Given the description of an element on the screen output the (x, y) to click on. 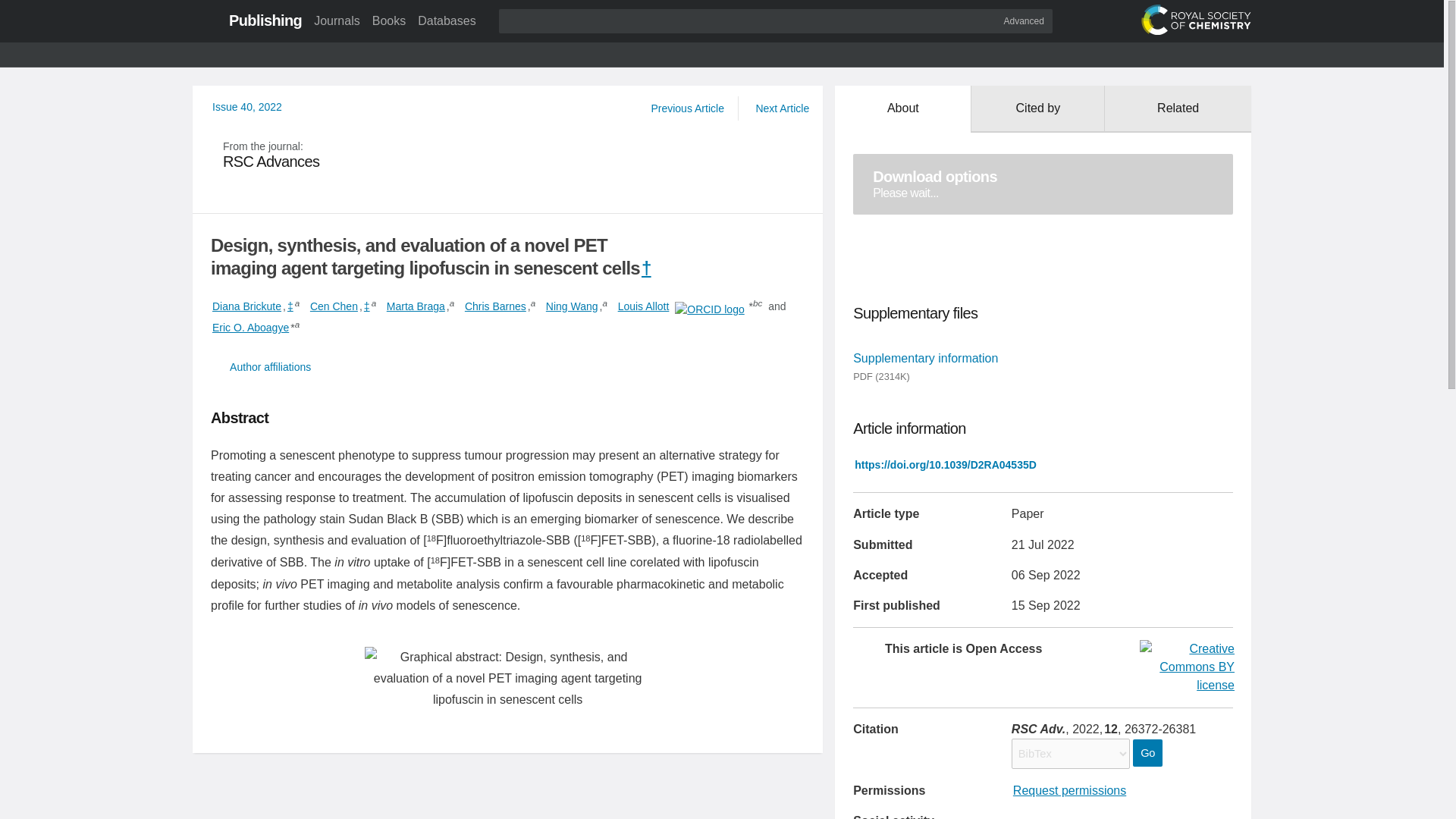
Related (1177, 108)
Louis Allott (643, 305)
Cited by (1037, 108)
Author affiliations (508, 367)
Eric O. Aboagye (250, 327)
Advanced (1023, 20)
Marta Braga (415, 305)
Link to landing page via DOI (945, 464)
Journals (336, 20)
